Given the description of an element on the screen output the (x, y) to click on. 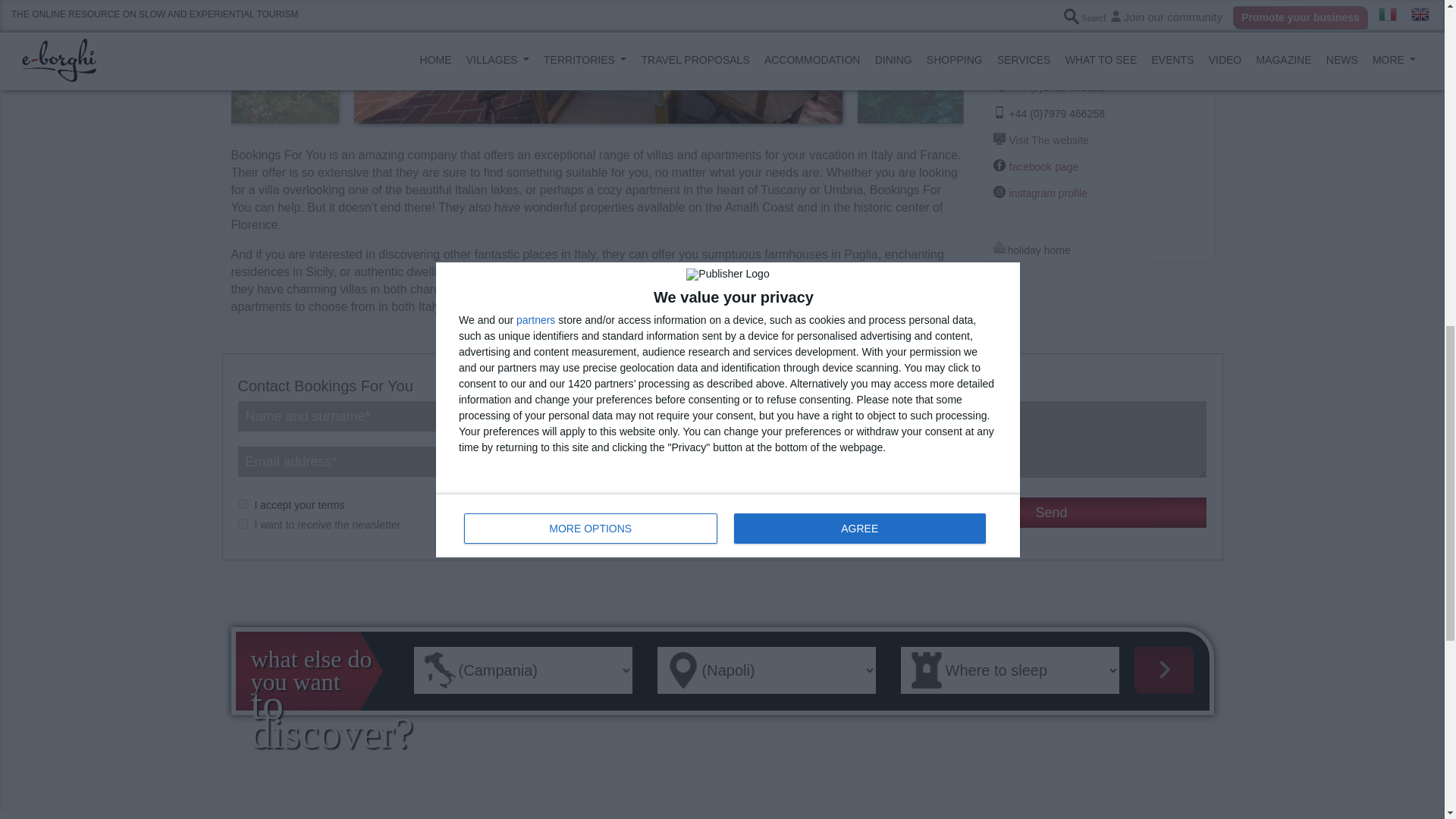
Send (1051, 512)
1 (242, 503)
1 (242, 523)
